Given the description of an element on the screen output the (x, y) to click on. 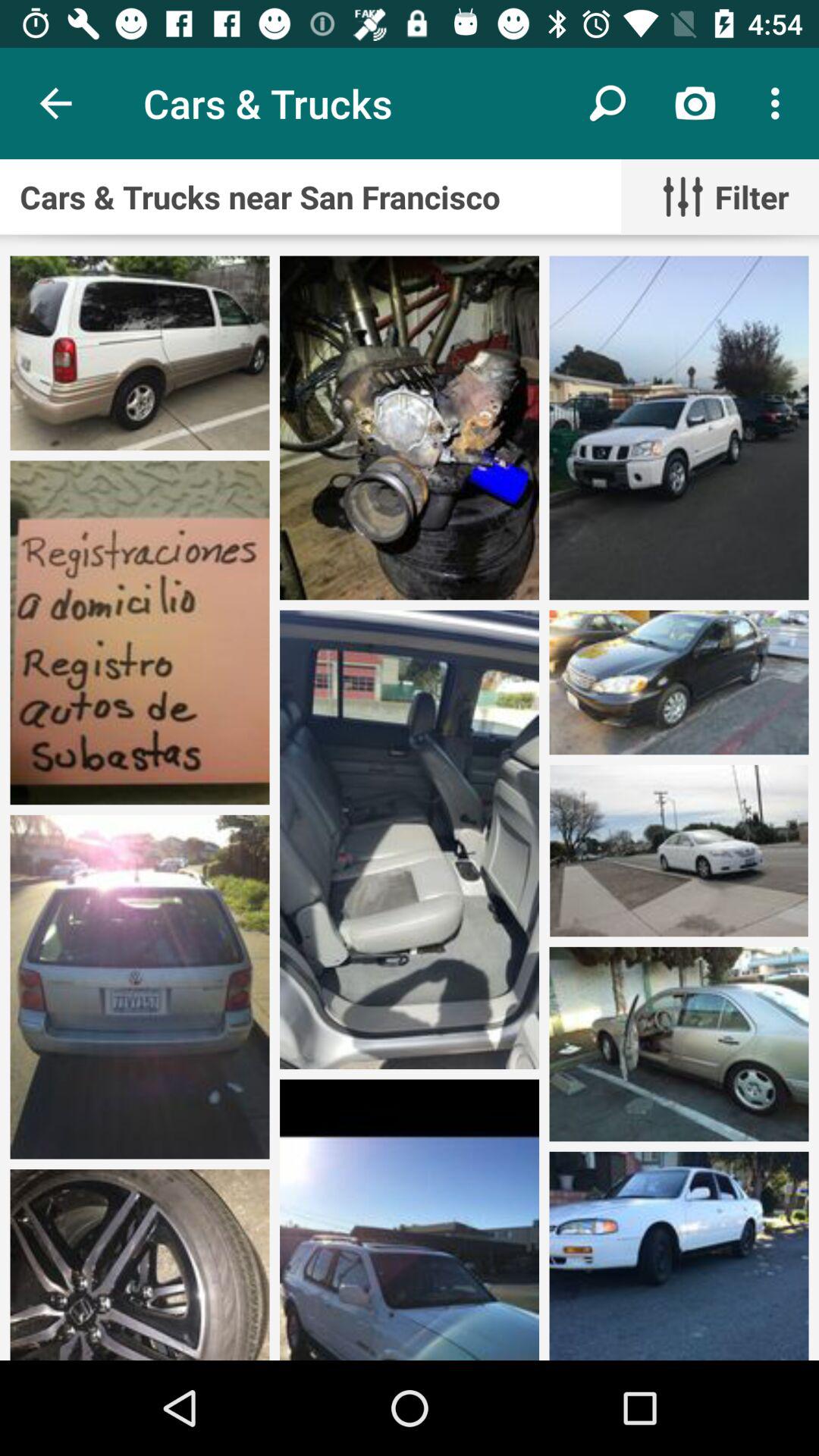
click the icon above cars trucks near (779, 103)
